Given the description of an element on the screen output the (x, y) to click on. 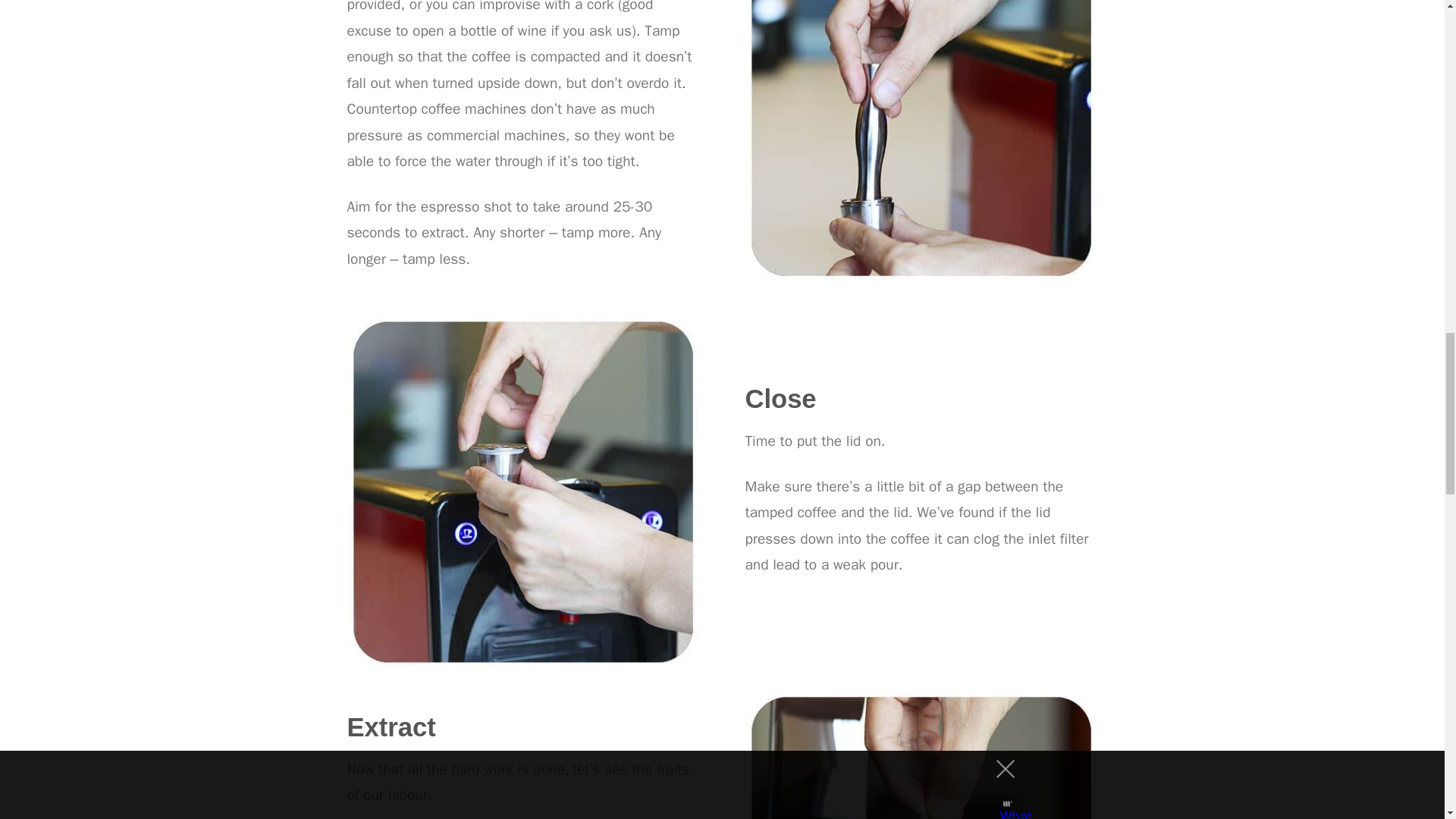
How To Use Your Green Nespresso Pods 4 (523, 489)
How To Use Your Green Nespresso Pods 5 (920, 754)
How To Use Your Green Nespresso Pods 3 (920, 141)
